Given the description of an element on the screen output the (x, y) to click on. 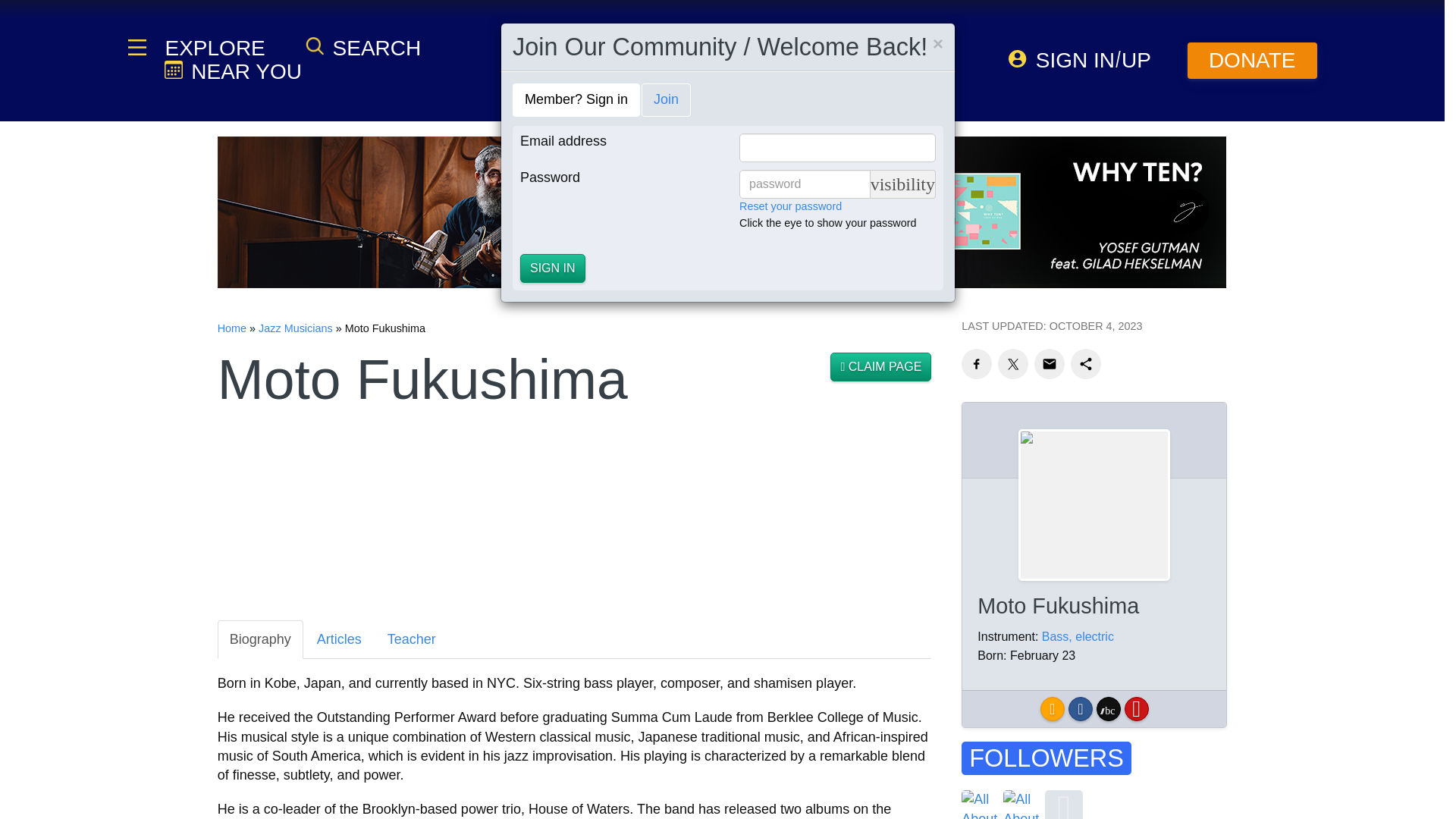
Articles (339, 639)
Near You (232, 71)
Click Here to Return to the All About Jazz Home Page (231, 328)
SEARCH (362, 47)
DONATE (1252, 60)
Support All About Jazz and go ad-free! (1252, 60)
Biography (259, 639)
SIGN IN UP (1080, 60)
CLAIM PAGE (880, 366)
Claim this page then update it (880, 366)
EXPLORE (212, 47)
All About Jazz Jazz Musicians (296, 328)
Cerca su All About Jazz (362, 47)
NEAR YOU (232, 71)
